Given the description of an element on the screen output the (x, y) to click on. 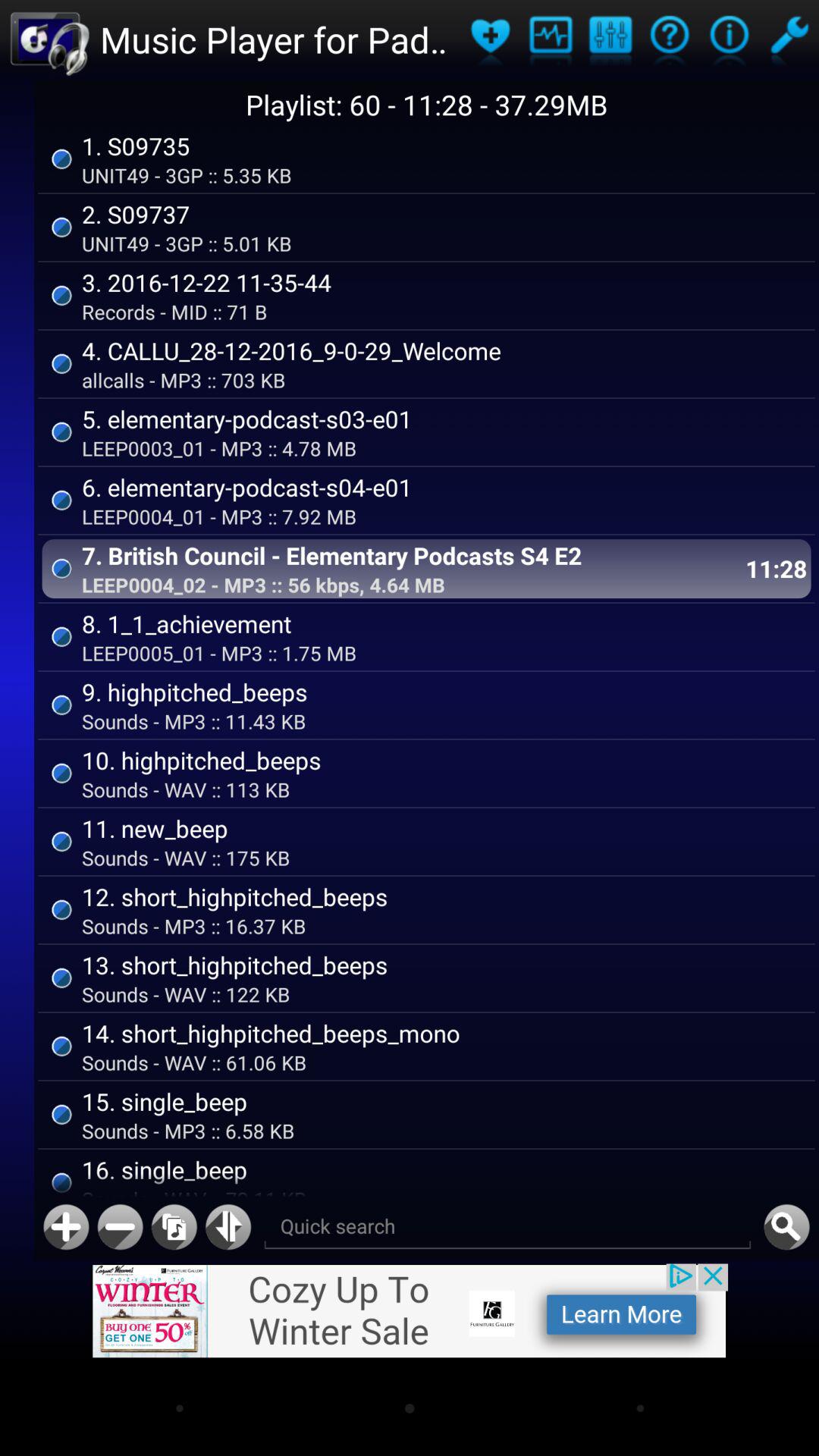
quickly search for a song from the playlist (786, 1226)
